Given the description of an element on the screen output the (x, y) to click on. 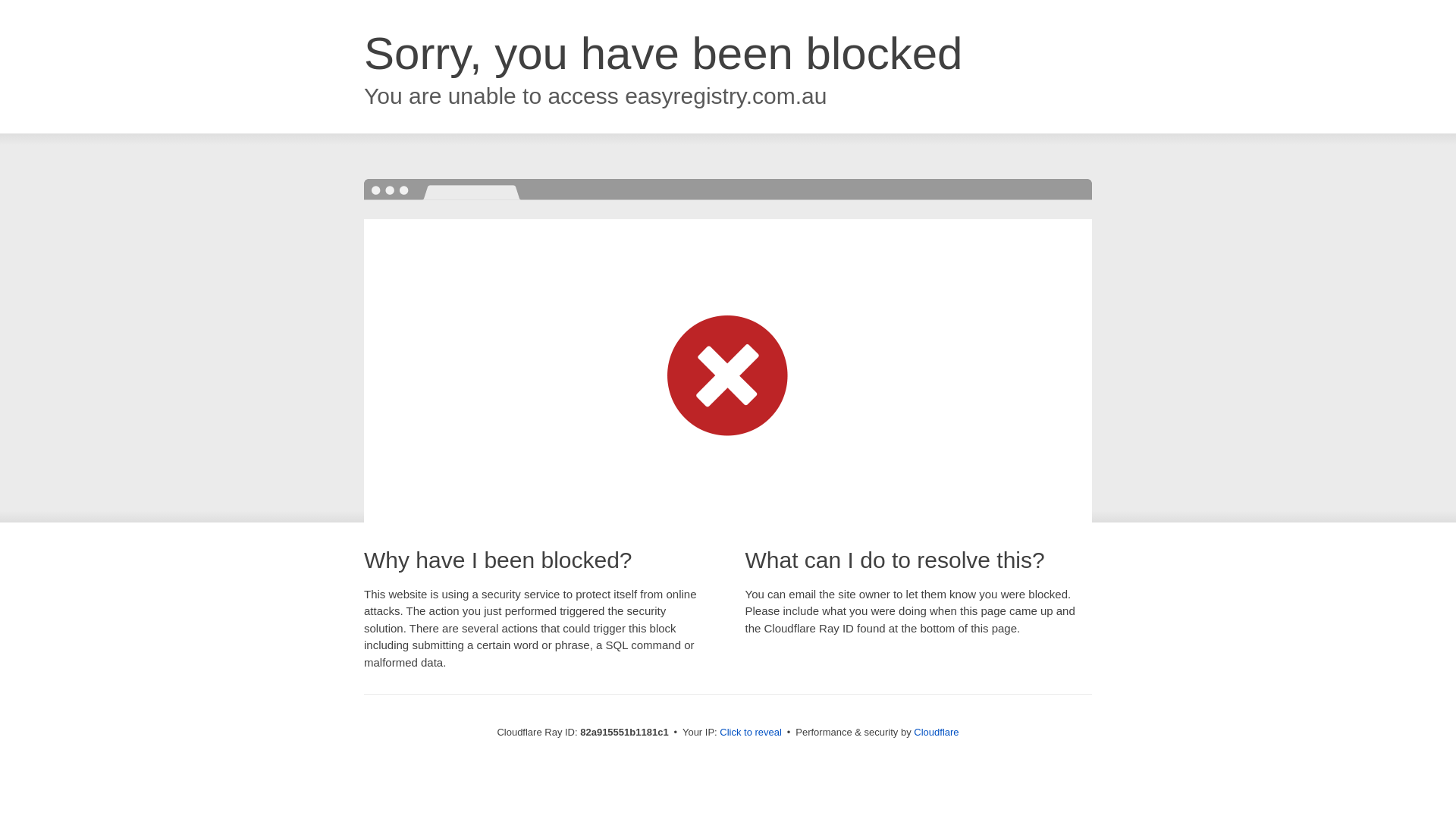
Cloudflare Element type: text (935, 731)
Click to reveal Element type: text (750, 732)
